Given the description of an element on the screen output the (x, y) to click on. 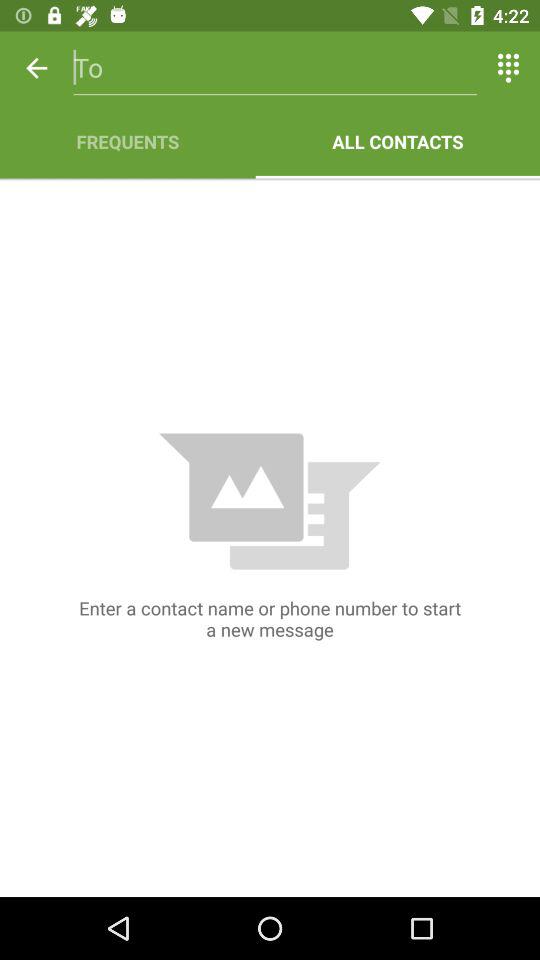
tap app above frequents (274, 67)
